Given the description of an element on the screen output the (x, y) to click on. 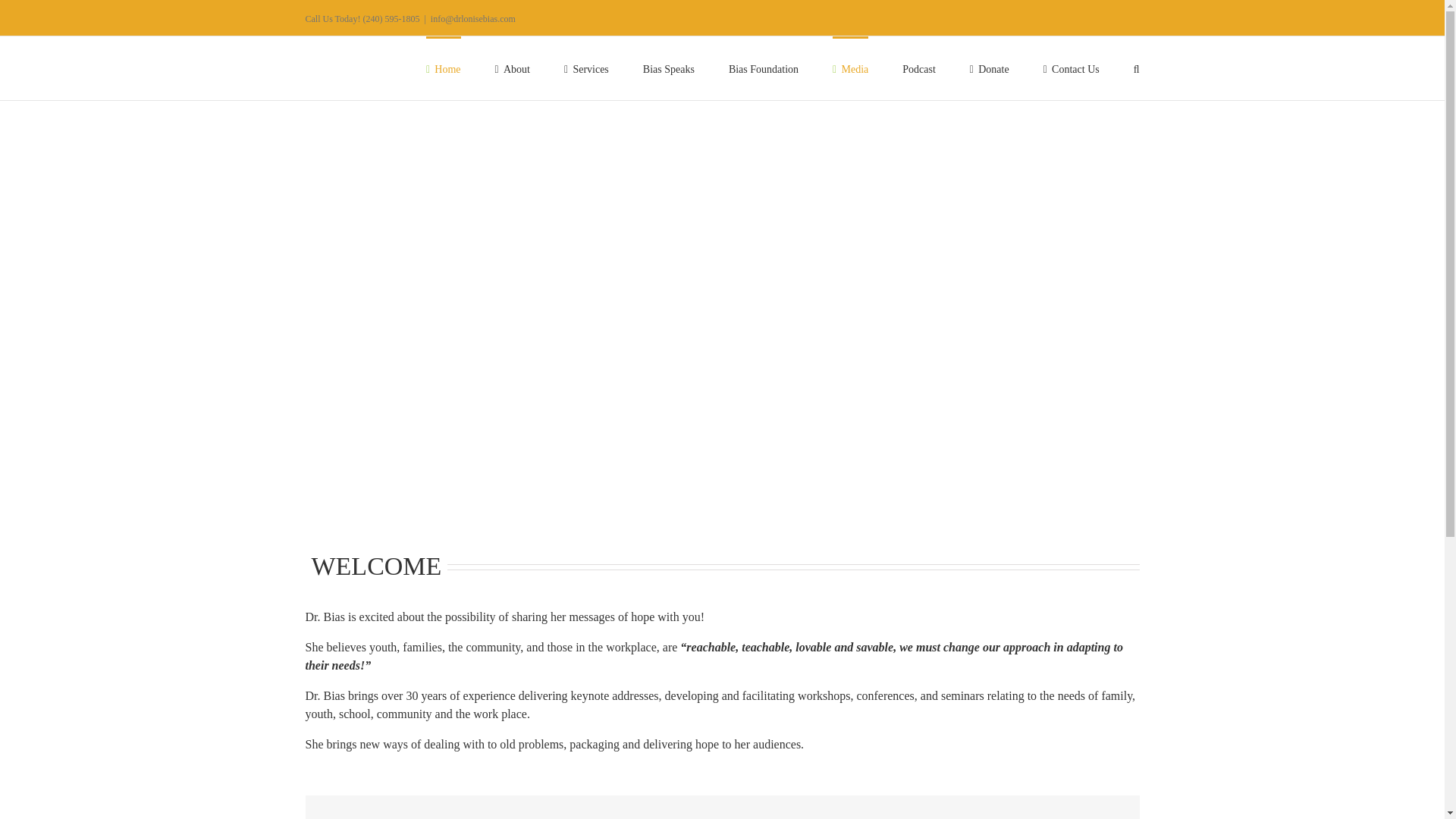
Bias Speaks (668, 67)
Media (849, 67)
About (512, 67)
Home (443, 67)
Services (586, 67)
Contact Us (1071, 67)
Bias Foundation (763, 67)
Donate (989, 67)
Podcast (919, 67)
